Given the description of an element on the screen output the (x, y) to click on. 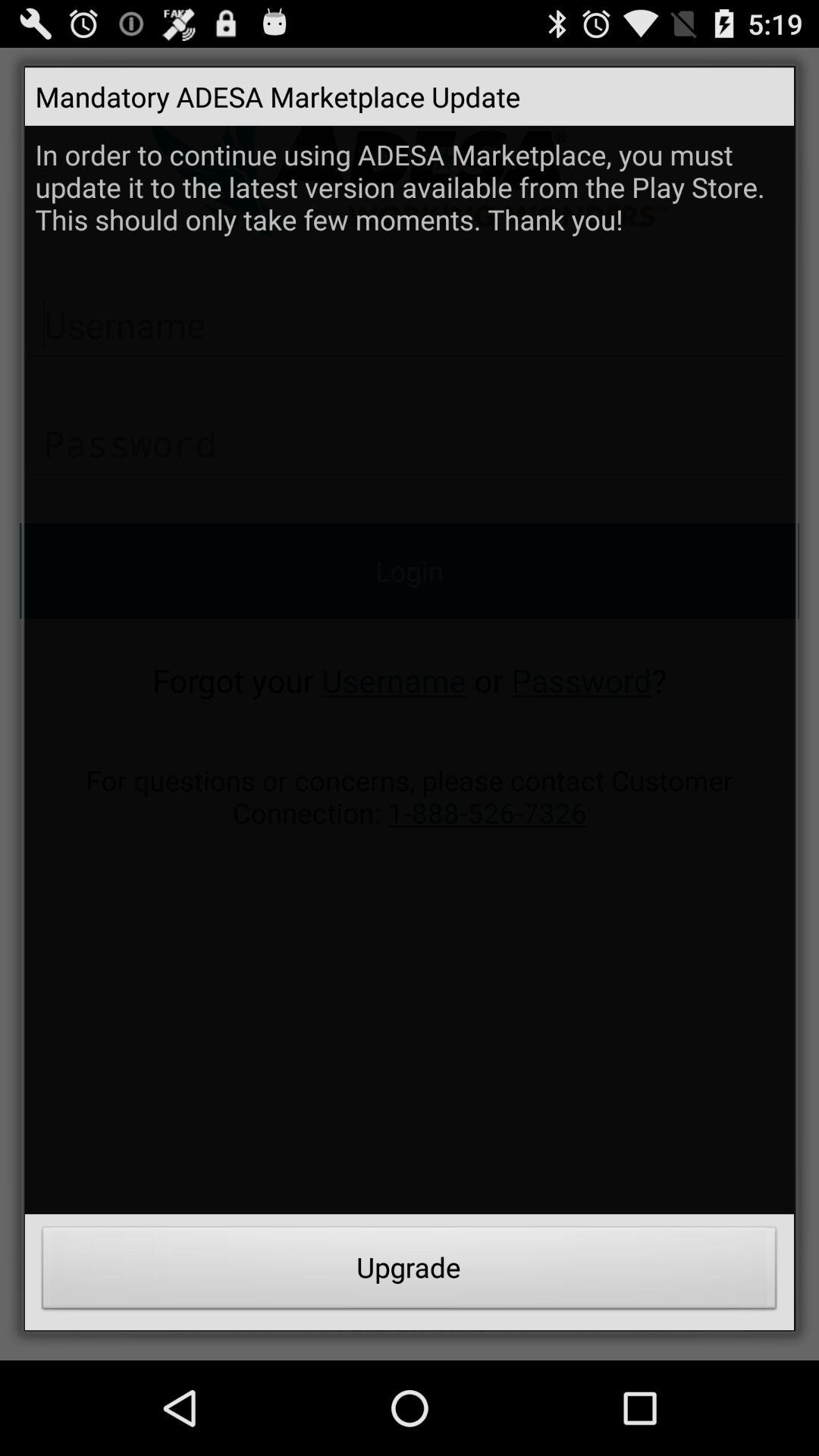
turn off upgrade (409, 1272)
